Given the description of an element on the screen output the (x, y) to click on. 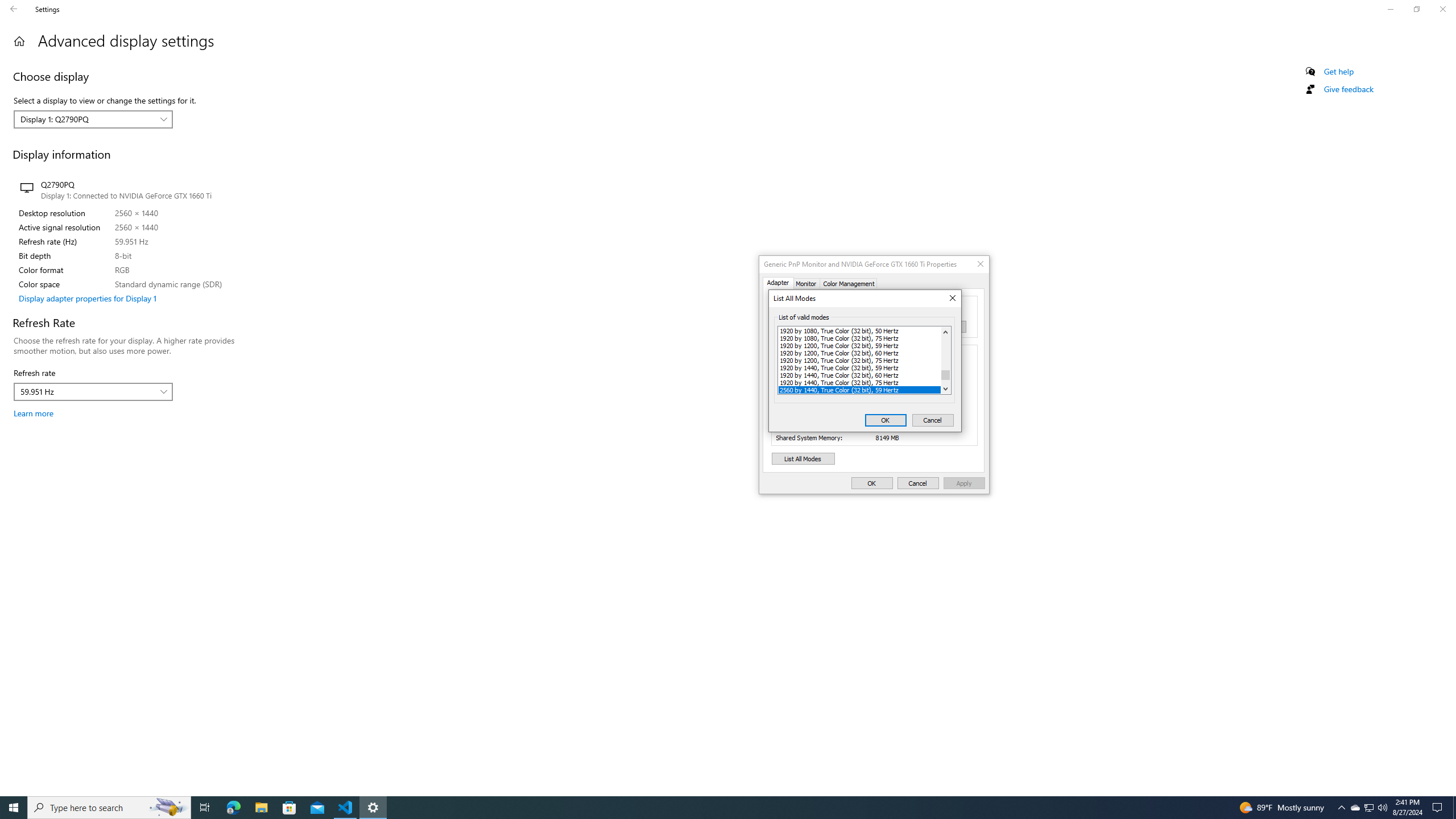
Search highlights icon opens search home window (1368, 807)
Page down (167, 807)
1920 by 1200, True Color (32 bit), 59 Hertz (945, 381)
Cancel (859, 344)
1920 by 1200, True Color (32 bit), 60 Hertz (932, 420)
